Given the description of an element on the screen output the (x, y) to click on. 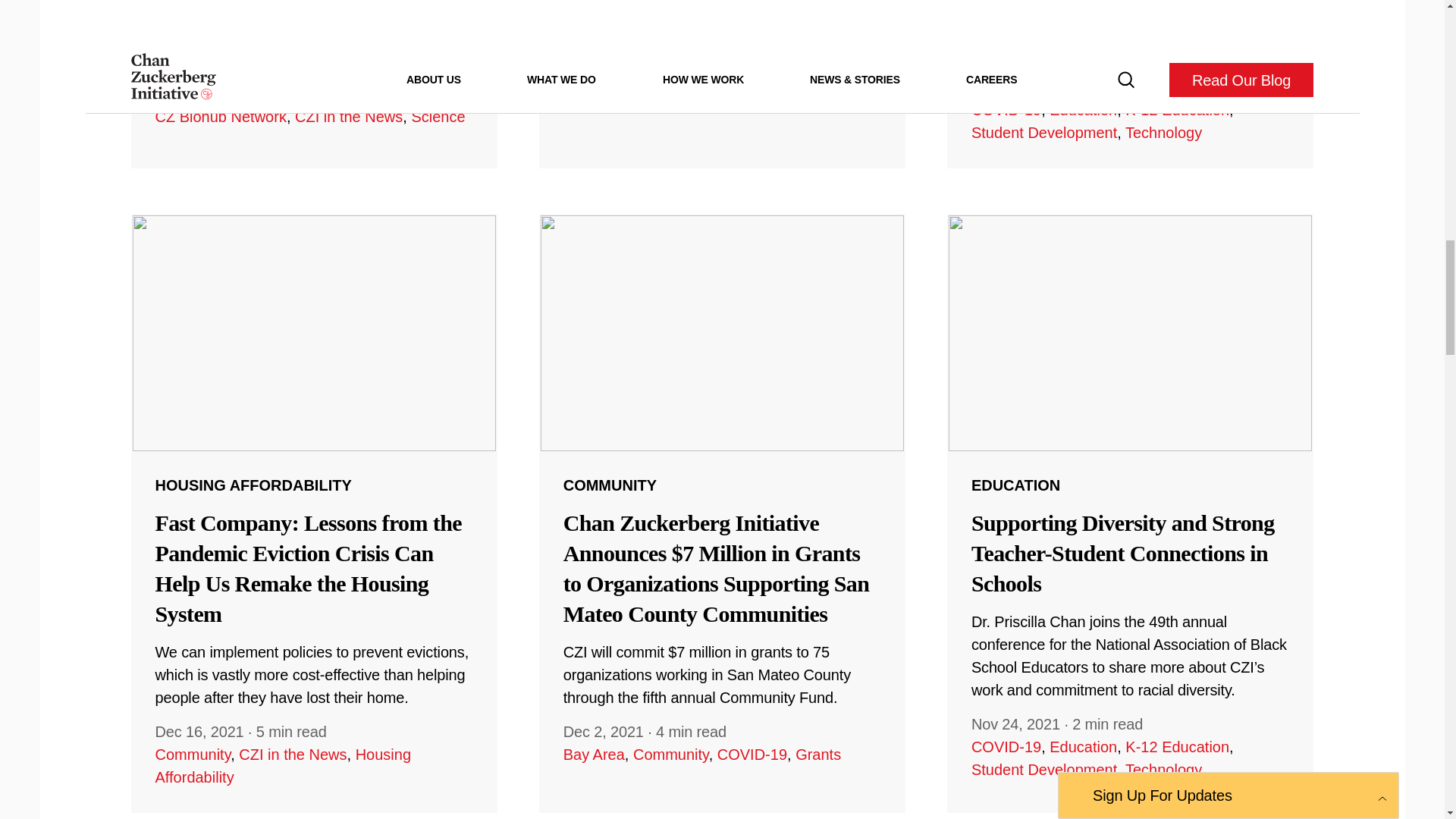
Read: The Economist: Worlds Within, Worlds Without (722, 83)
Read: Advancing Well-Being for Success in Learning and Life (1131, 83)
